Given the description of an element on the screen output the (x, y) to click on. 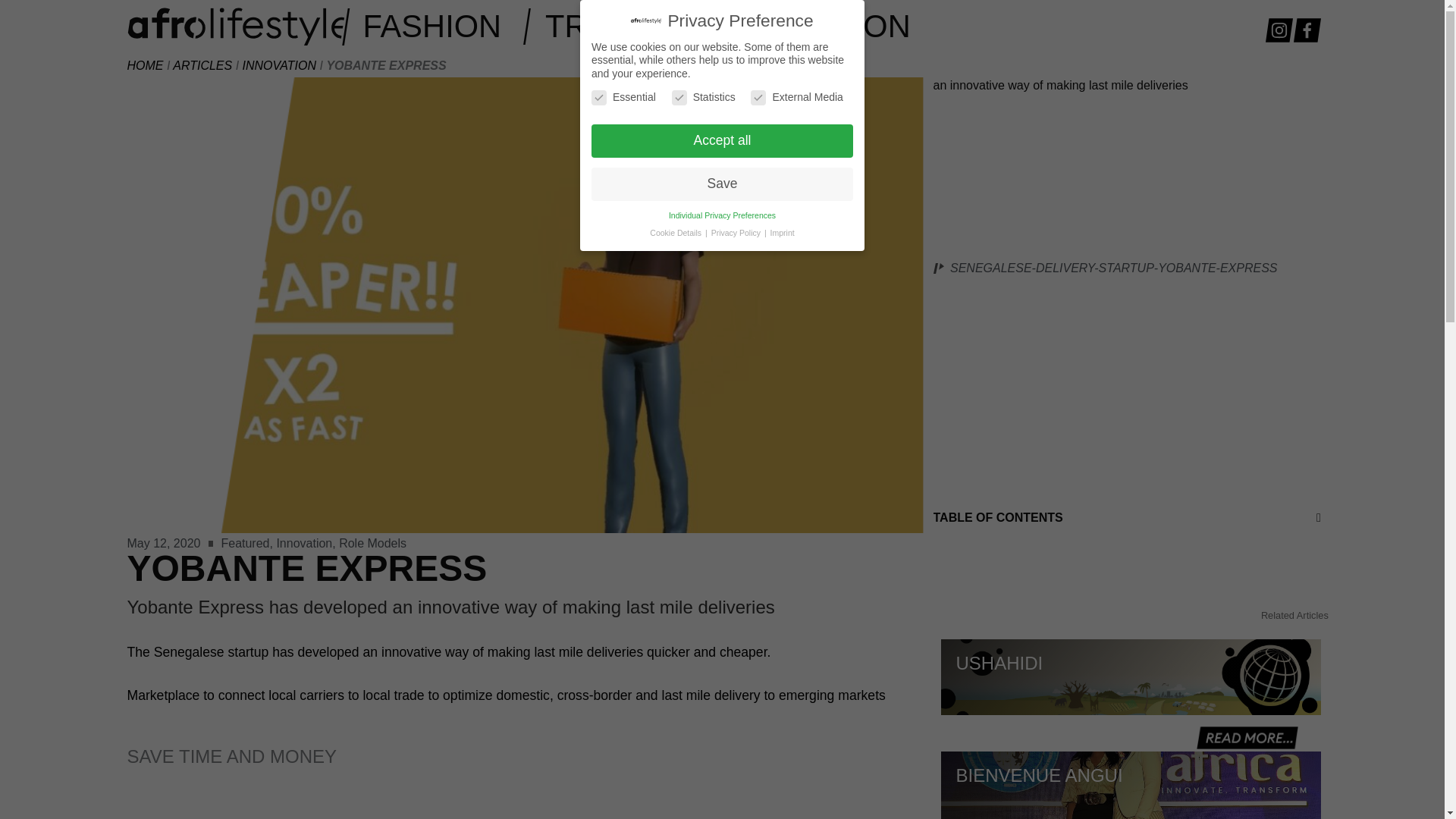
TRENDS (613, 26)
FASHION (435, 26)
INNOVATION (818, 26)
